Given the description of an element on the screen output the (x, y) to click on. 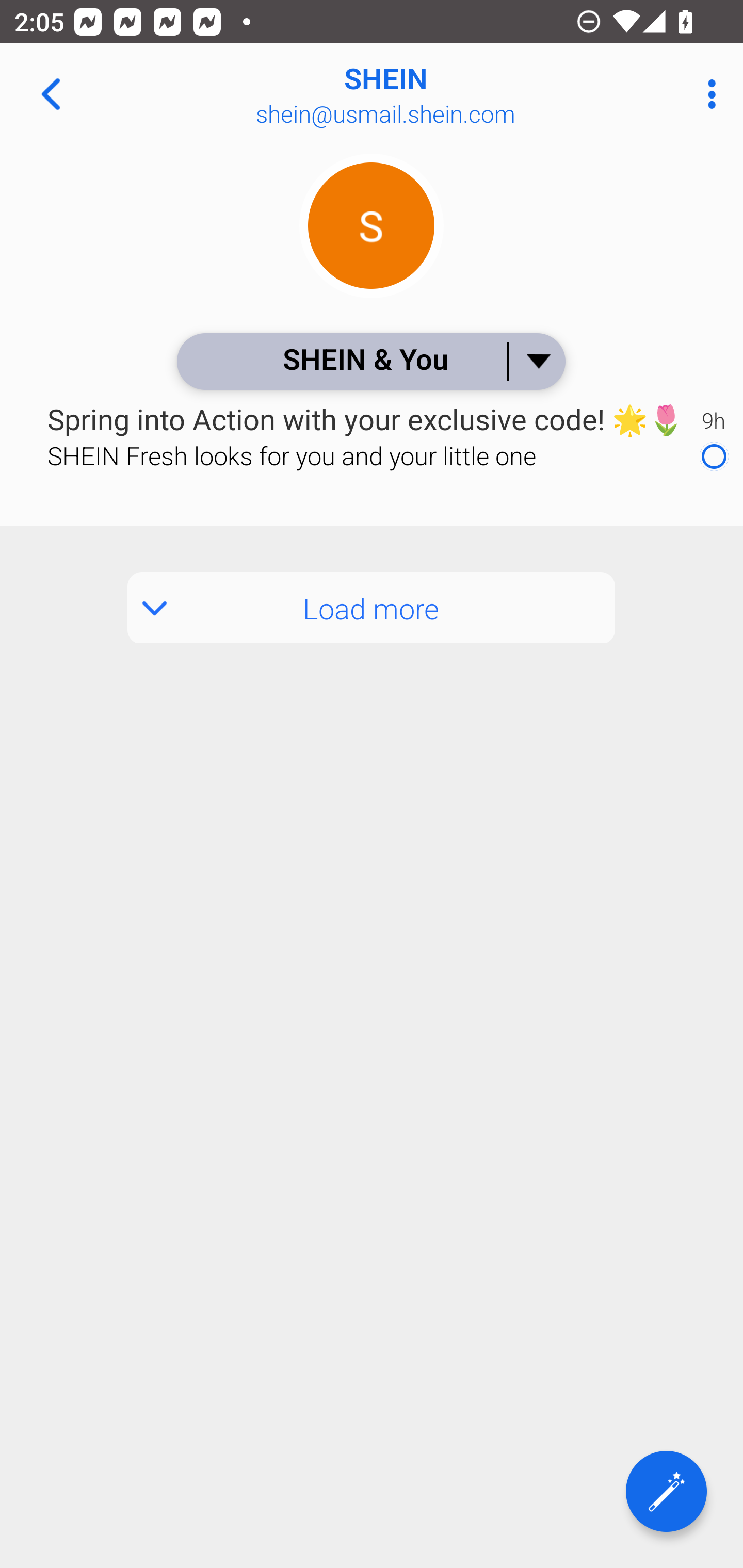
Navigate up (50, 93)
SHEIN shein@usmail.shein.com (436, 93)
More Options (706, 93)
SHEIN & You (370, 361)
Load more (371, 607)
